Given the description of an element on the screen output the (x, y) to click on. 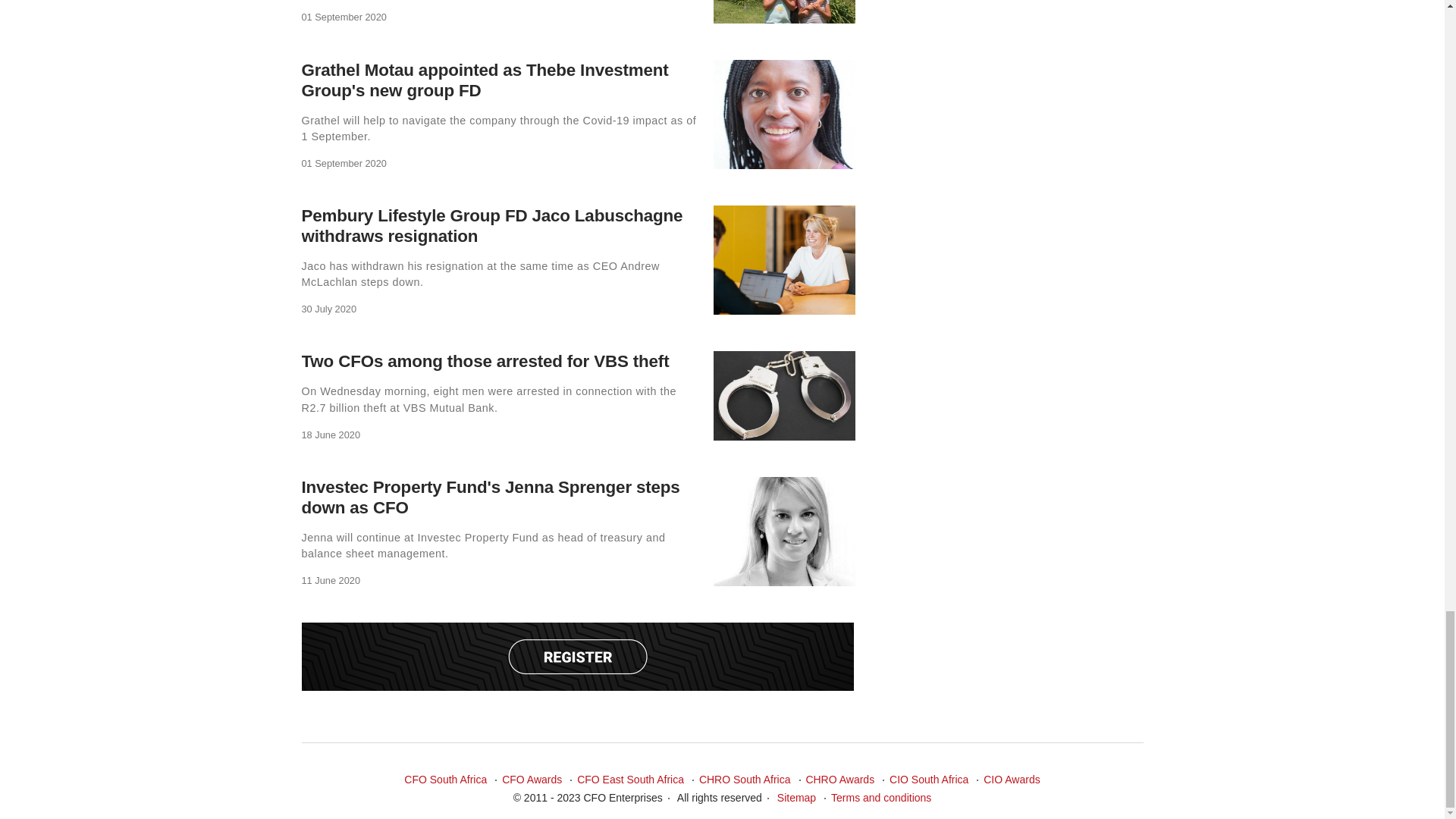
Two CFOs among those arrested for VBS theft (485, 361)
Investec Property Fund's Jenna Sprenger steps down as CFO (490, 496)
